Given the description of an element on the screen output the (x, y) to click on. 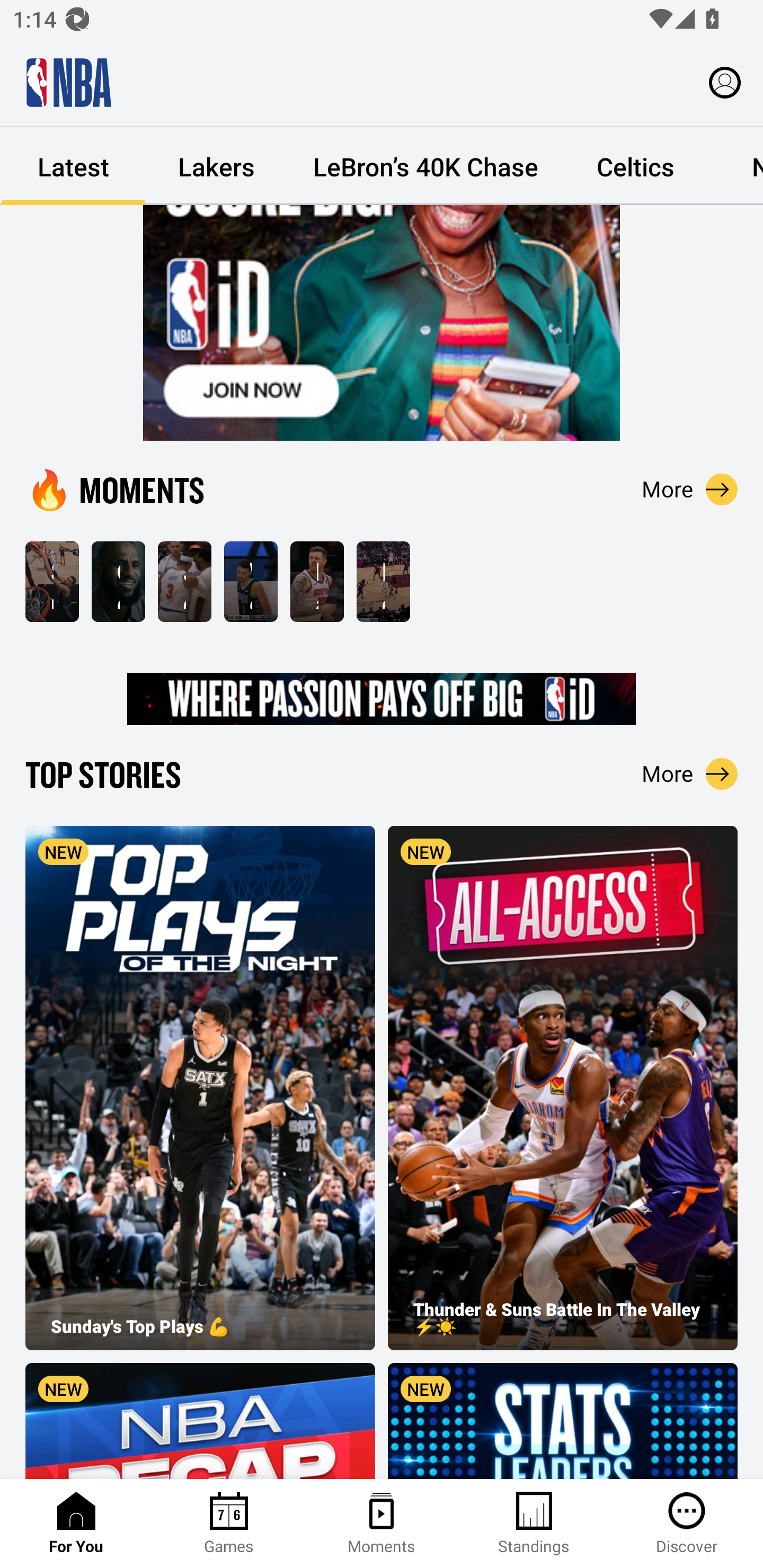
Profile (724, 81)
Lakers (215, 166)
LeBron’s 40K Chase (425, 166)
Celtics (634, 166)
More (689, 488)
Sunday's Top Plays In 30 Seconds ⏱ (51, 581)
Hartenstein Drops The Hammer 🔨 (317, 581)
More (689, 773)
NEW Sunday's Top Plays 💪 (200, 1088)
NEW Thunder & Suns Battle In The Valley ⚡☀ (562, 1088)
Games (228, 1523)
Moments (381, 1523)
Standings (533, 1523)
Discover (686, 1523)
